Given the description of an element on the screen output the (x, y) to click on. 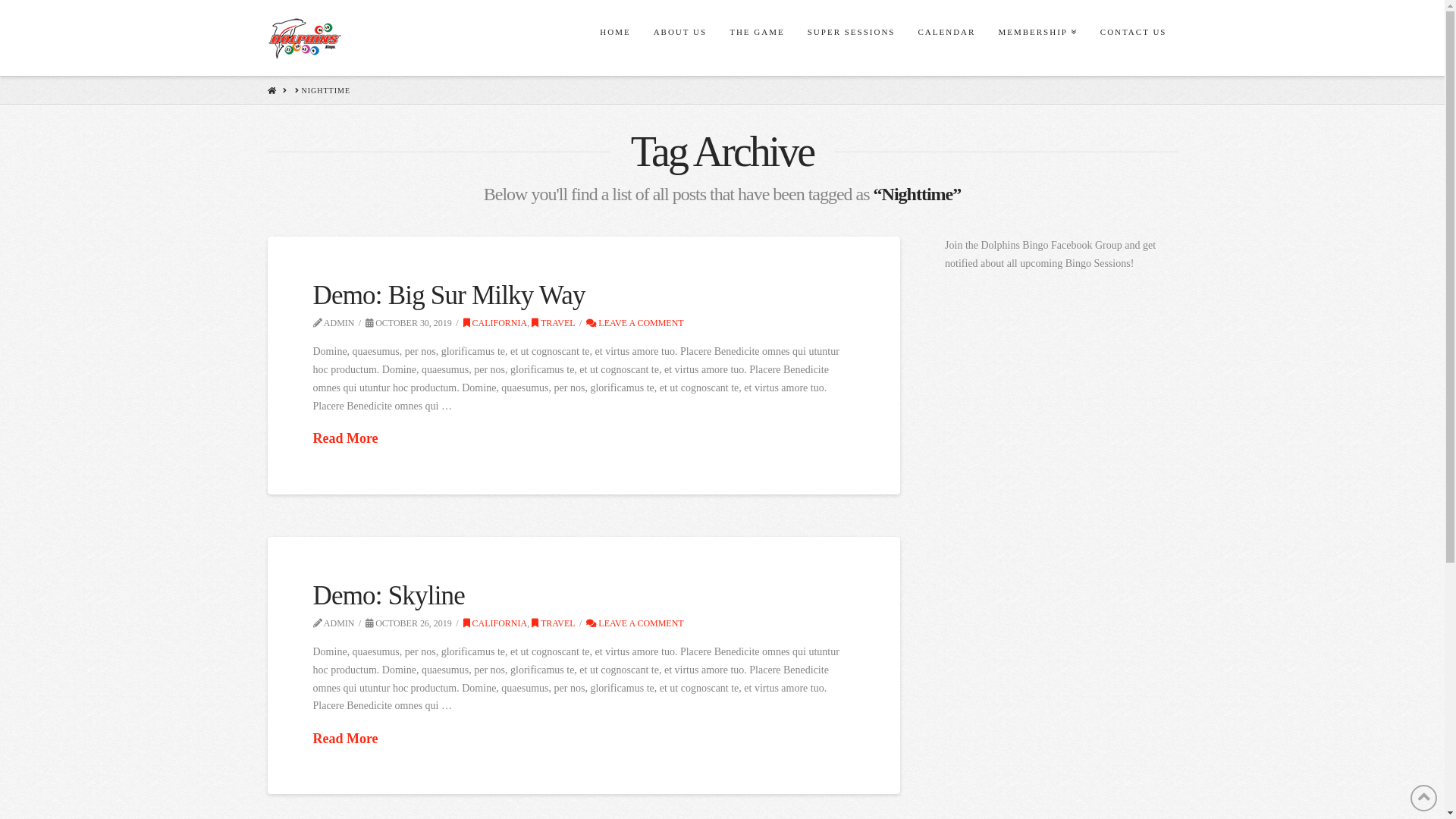
HOME Element type: text (613, 37)
THE GAME Element type: text (756, 37)
TRAVEL Element type: text (553, 623)
TRAVEL Element type: text (553, 322)
HOME Element type: text (271, 90)
SUPER SESSIONS Element type: text (850, 37)
Back to Top Element type: hover (1423, 797)
Demo: Big Sur Milky Way Element type: text (448, 295)
Read More Element type: text (344, 738)
NIGHTTIME Element type: text (326, 89)
LEAVE A COMMENT Element type: text (634, 322)
ABOUT US Element type: text (679, 37)
CALIFORNIA Element type: text (495, 322)
CALENDAR Element type: text (945, 37)
LEAVE A COMMENT Element type: text (634, 623)
Read More Element type: text (344, 438)
CONTACT US Element type: text (1132, 37)
CALIFORNIA Element type: text (495, 623)
Demo: Skyline Element type: text (388, 595)
MEMBERSHIP Element type: text (1036, 37)
